Given the description of an element on the screen output the (x, y) to click on. 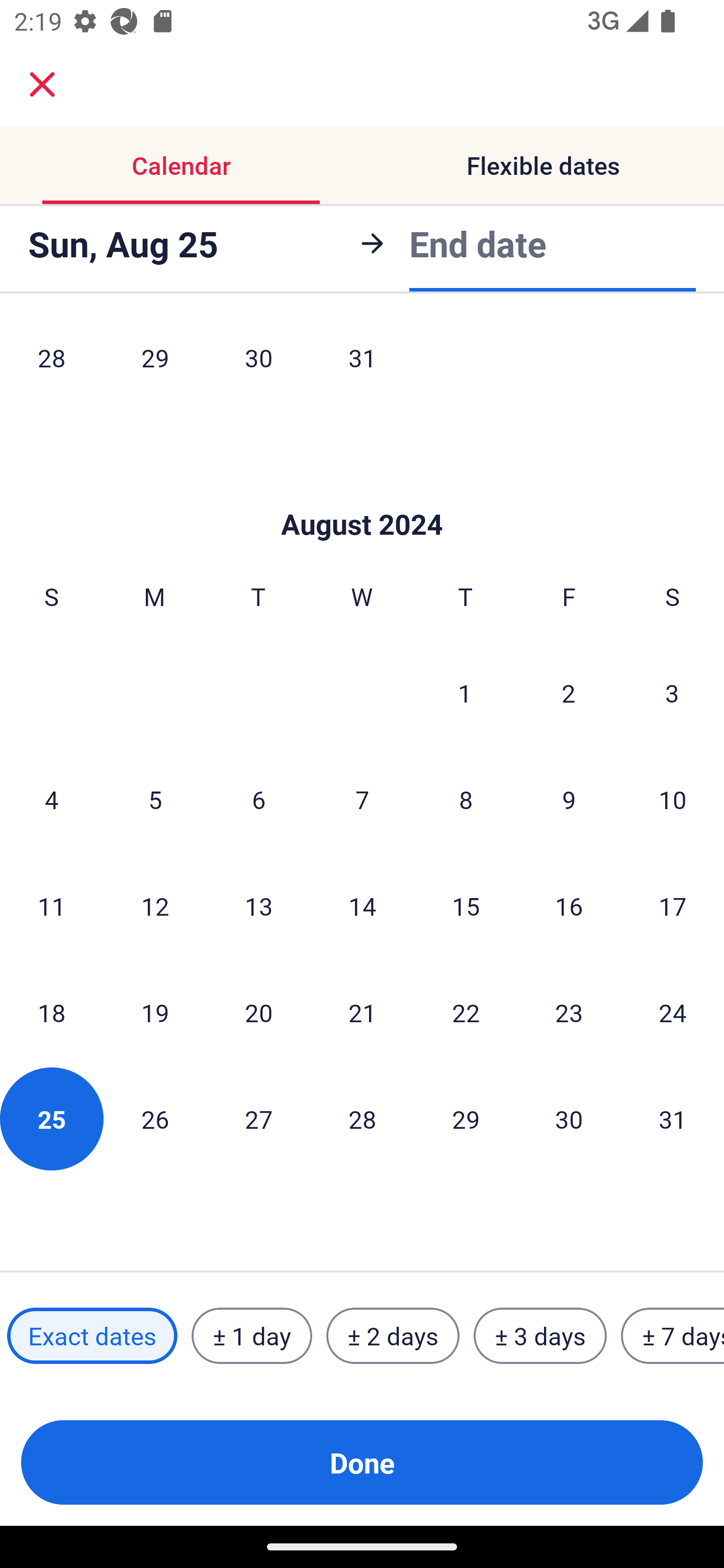
close. (42, 84)
Flexible dates (542, 164)
End date (477, 243)
28 Sunday, July 28, 2024 (51, 365)
29 Monday, July 29, 2024 (155, 365)
30 Tuesday, July 30, 2024 (258, 365)
31 Wednesday, July 31, 2024 (362, 365)
Skip to Done (362, 493)
1 Thursday, August 1, 2024 (464, 692)
2 Friday, August 2, 2024 (568, 692)
3 Saturday, August 3, 2024 (672, 692)
4 Sunday, August 4, 2024 (51, 799)
5 Monday, August 5, 2024 (155, 799)
6 Tuesday, August 6, 2024 (258, 799)
7 Wednesday, August 7, 2024 (362, 799)
8 Thursday, August 8, 2024 (465, 799)
9 Friday, August 9, 2024 (569, 799)
10 Saturday, August 10, 2024 (672, 799)
11 Sunday, August 11, 2024 (51, 906)
12 Monday, August 12, 2024 (155, 906)
13 Tuesday, August 13, 2024 (258, 906)
14 Wednesday, August 14, 2024 (362, 906)
15 Thursday, August 15, 2024 (465, 906)
16 Friday, August 16, 2024 (569, 906)
17 Saturday, August 17, 2024 (672, 906)
18 Sunday, August 18, 2024 (51, 1012)
19 Monday, August 19, 2024 (155, 1012)
20 Tuesday, August 20, 2024 (258, 1012)
21 Wednesday, August 21, 2024 (362, 1012)
22 Thursday, August 22, 2024 (465, 1012)
23 Friday, August 23, 2024 (569, 1012)
24 Saturday, August 24, 2024 (672, 1012)
26 Monday, August 26, 2024 (155, 1118)
27 Tuesday, August 27, 2024 (258, 1118)
28 Wednesday, August 28, 2024 (362, 1118)
29 Thursday, August 29, 2024 (465, 1118)
30 Friday, August 30, 2024 (569, 1118)
31 Saturday, August 31, 2024 (672, 1118)
Exact dates (92, 1335)
± 1 day (251, 1335)
± 2 days (392, 1335)
± 3 days (539, 1335)
± 7 days (672, 1335)
Done (361, 1462)
